Given the description of an element on the screen output the (x, y) to click on. 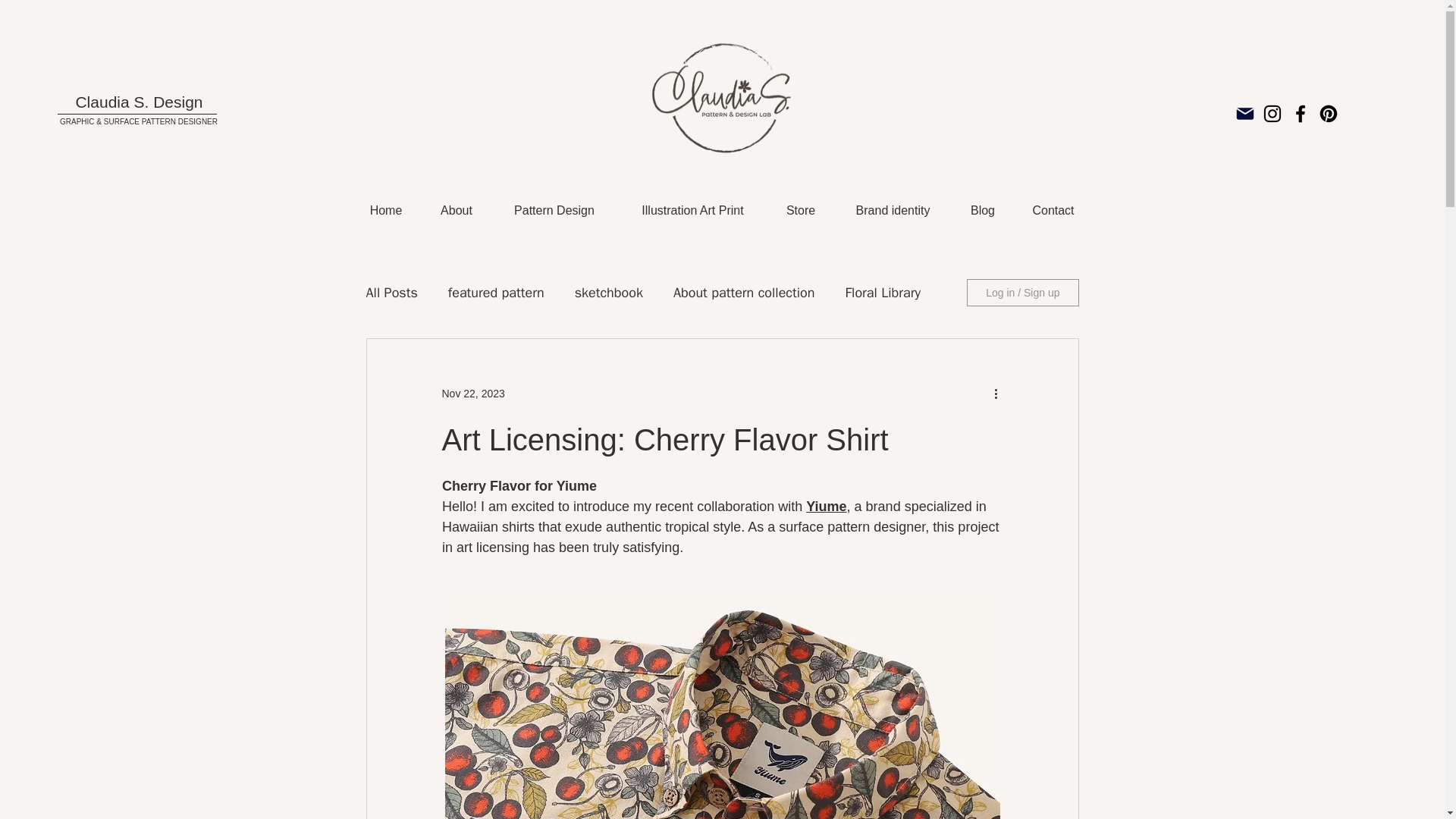
Blog (981, 210)
Home (385, 210)
Yiume (825, 506)
All Posts (390, 292)
Pattern Design (553, 210)
Floral Library (882, 292)
Nov 22, 2023 (472, 392)
About (457, 210)
Store (800, 210)
About pattern collection (743, 292)
Illustration Art Print (692, 210)
Contact (1053, 210)
featured pattern (496, 292)
sketchbook (609, 292)
Brand identity (892, 210)
